Given the description of an element on the screen output the (x, y) to click on. 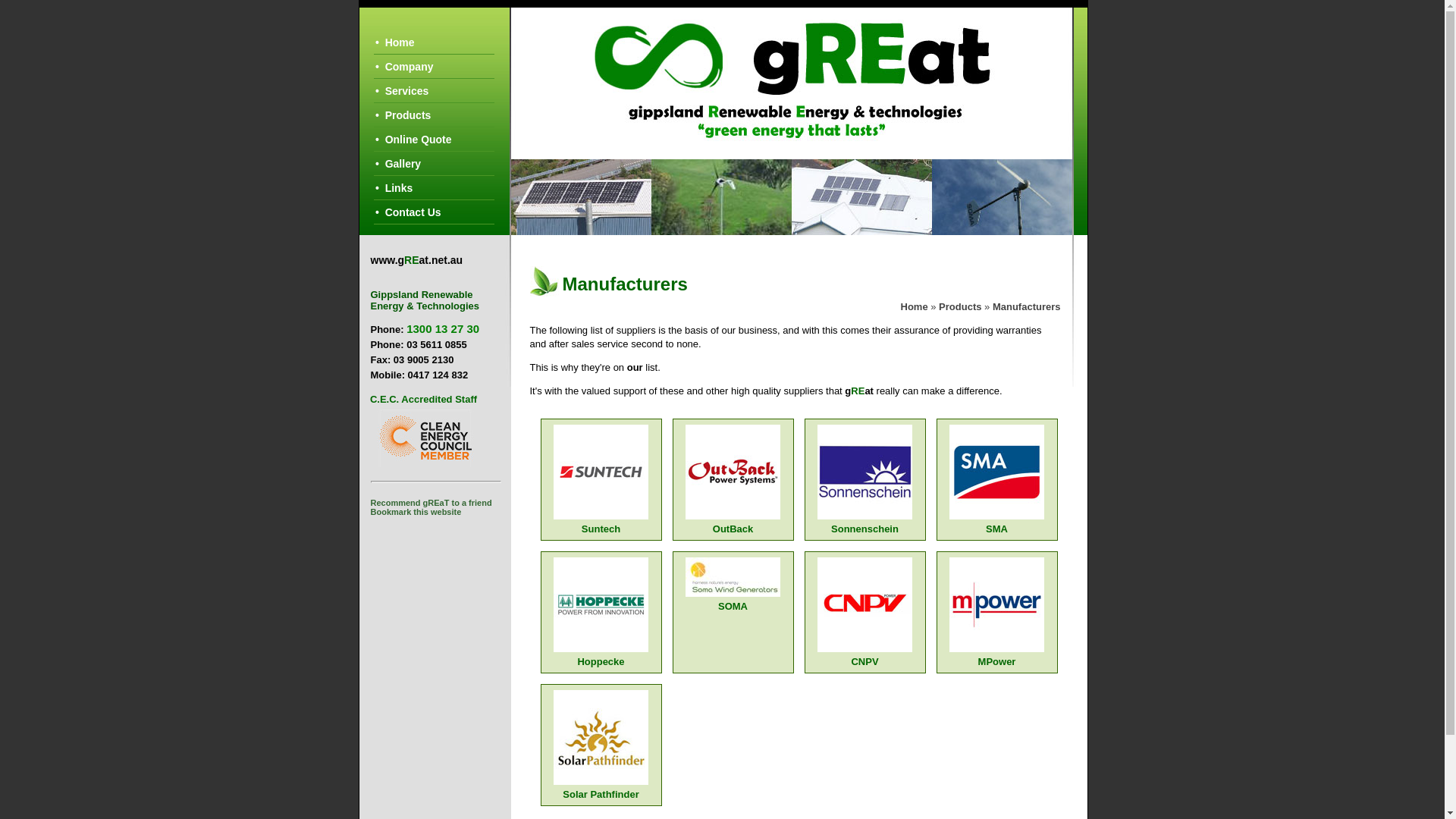
SMA Element type: text (996, 524)
Recommend gREaT to a friend Element type: text (430, 502)
Sonnenschein Element type: text (864, 524)
Suntech Element type: text (600, 524)
Hoppecke Element type: text (600, 656)
MPower Element type: text (996, 656)
SOMA Element type: text (732, 601)
CNPV Element type: text (864, 656)
Bookmark this website Element type: text (415, 511)
Manufacturers Element type: text (1026, 306)
OutBack Element type: text (732, 524)
Clean Energy Council Element type: hover (425, 436)
Solar Pathfinder Element type: text (600, 789)
Products Element type: text (959, 306)
Home Element type: text (914, 306)
